Given the description of an element on the screen output the (x, y) to click on. 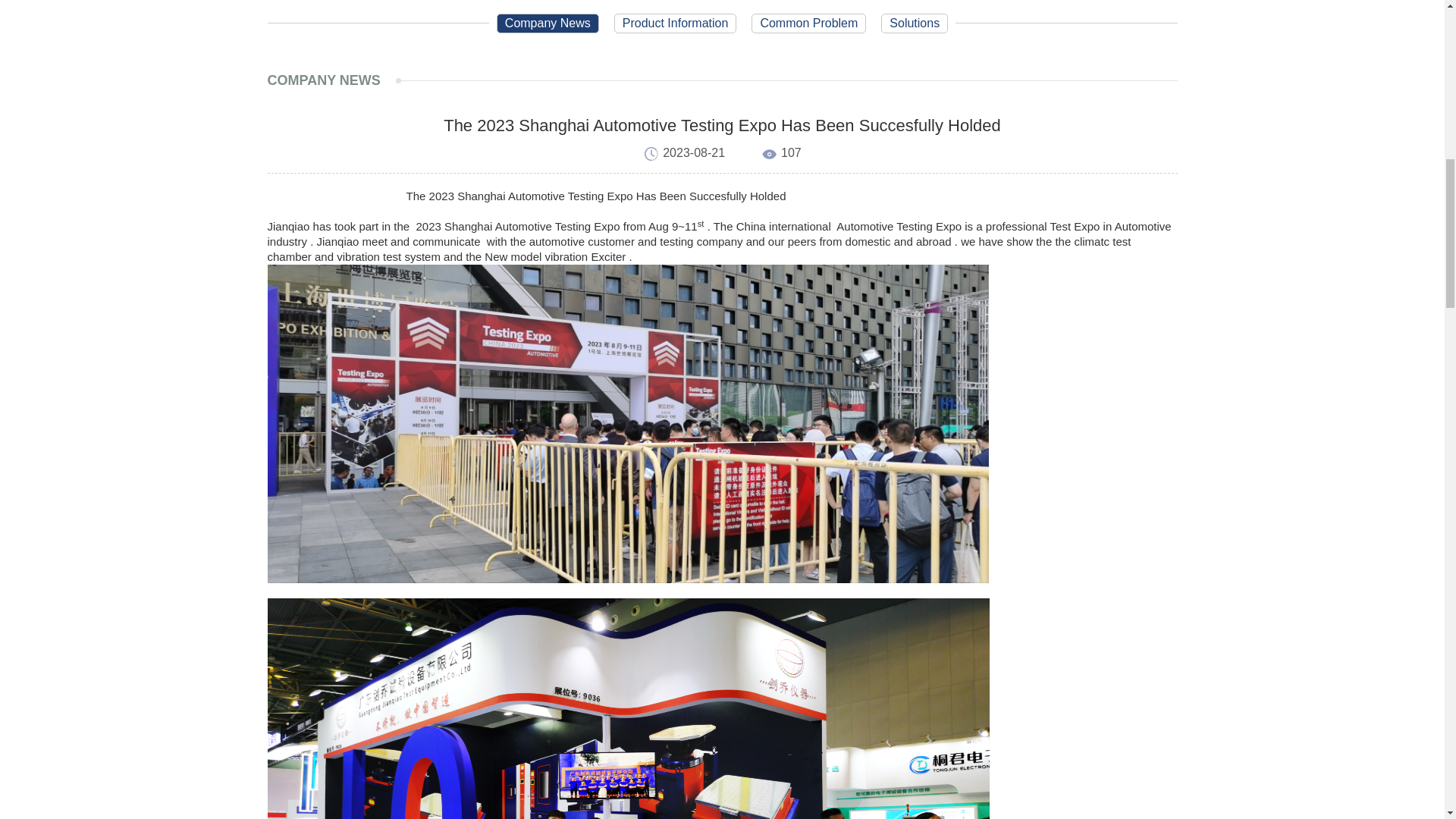
Company News (547, 23)
Common Problem (808, 23)
Product Information (675, 23)
Solutions (913, 23)
